Given the description of an element on the screen output the (x, y) to click on. 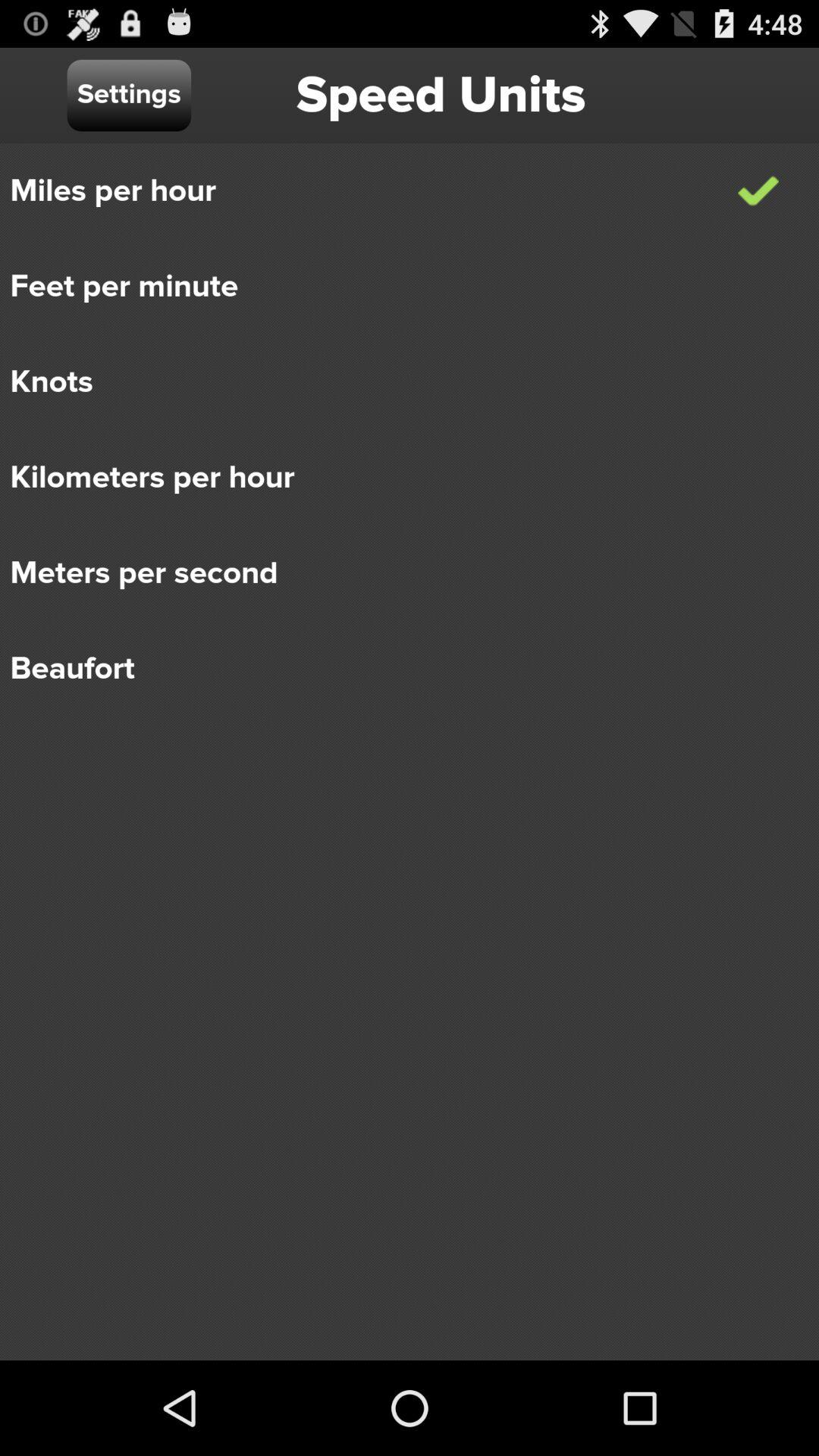
open the knots (399, 381)
